Given the description of an element on the screen output the (x, y) to click on. 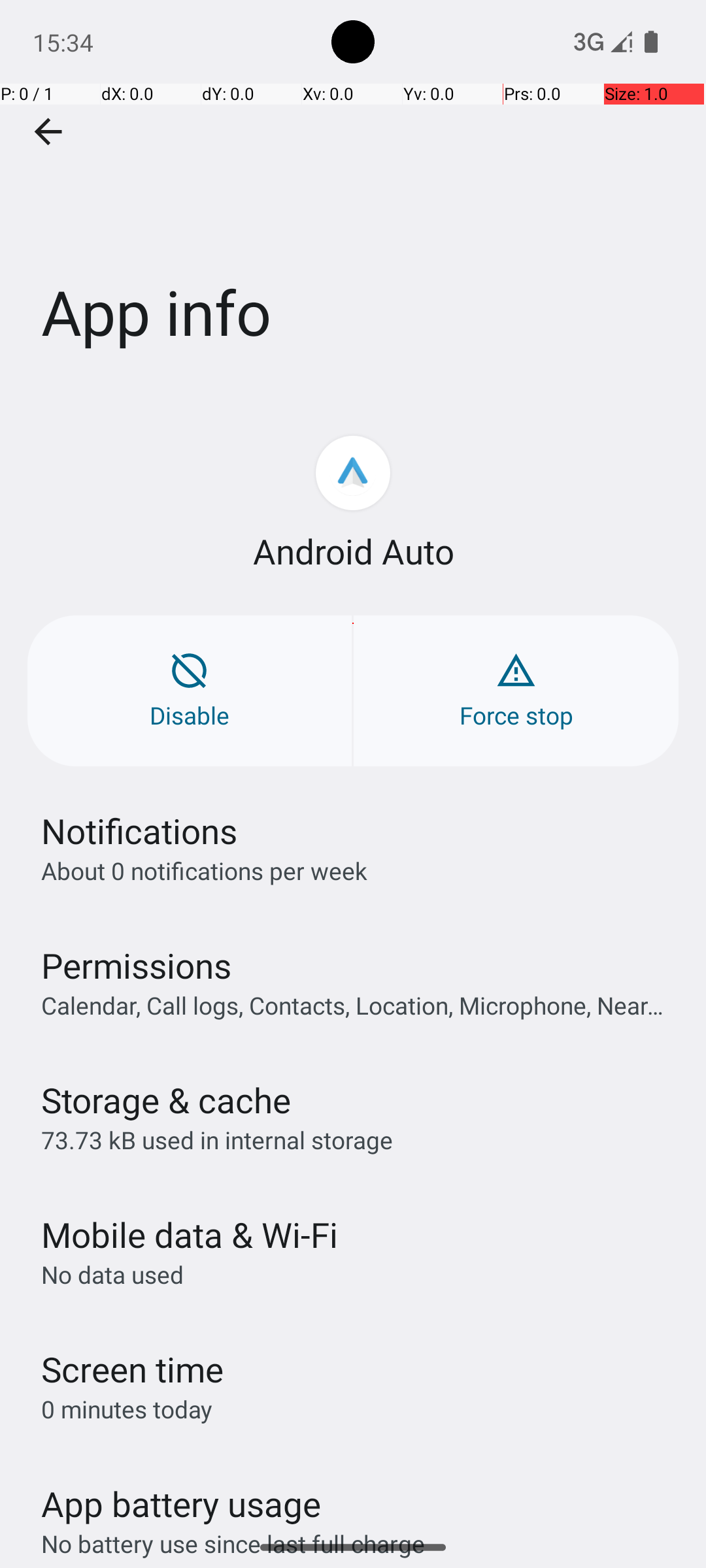
Android Auto Element type: android.widget.TextView (352, 550)
Disable Element type: android.widget.Button (189, 690)
About 0 notifications per week Element type: android.widget.TextView (204, 870)
Calendar, Call logs, Contacts, Location, Microphone, Nearby devices, Notifications, Phone, and SMS Element type: android.widget.TextView (359, 1004)
73.73 kB used in internal storage Element type: android.widget.TextView (216, 1139)
No data used Element type: android.widget.TextView (112, 1273)
0 minutes today Element type: android.widget.TextView (127, 1408)
